Given the description of an element on the screen output the (x, y) to click on. 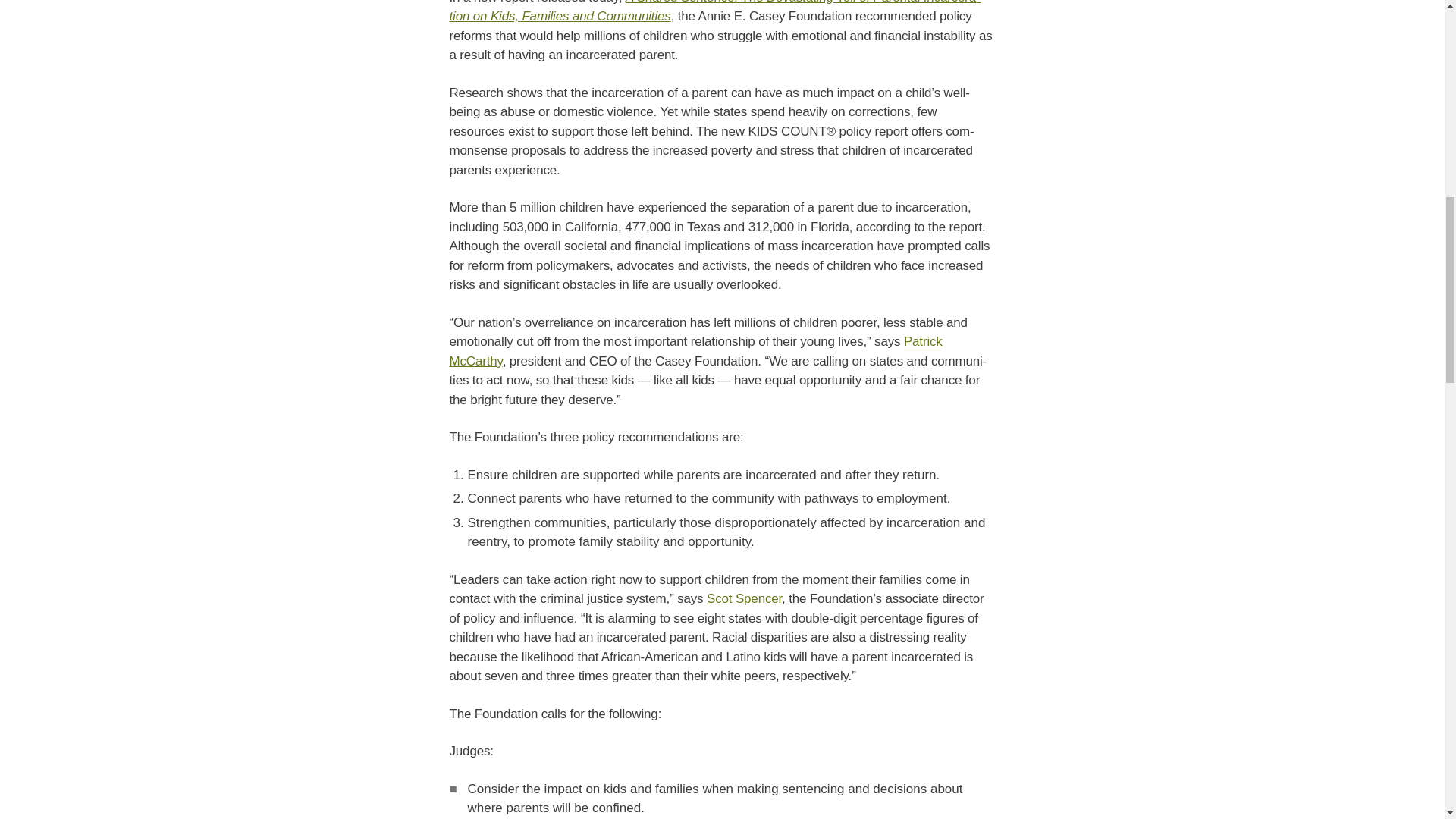
Patrick McCarthy (695, 351)
A Shared Sentence (713, 12)
Scot Spencer (743, 598)
